Given the description of an element on the screen output the (x, y) to click on. 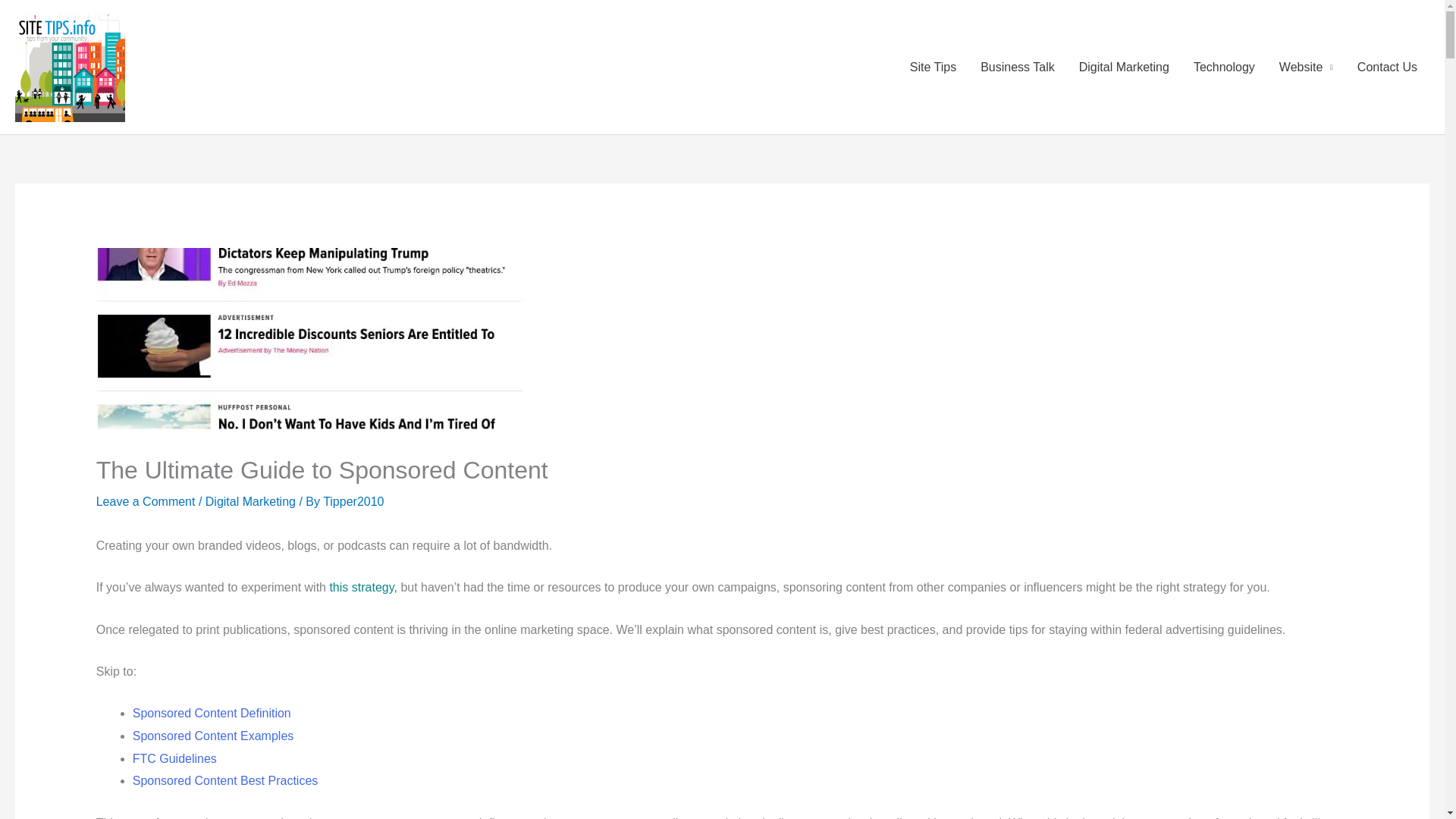
Leave a Comment (145, 501)
this strategy, (363, 586)
Tipper2010 (353, 501)
FTC Guidelines (174, 758)
Digital Marketing (250, 501)
View all posts by Tipper2010 (353, 501)
Sponsored Content Definition (211, 712)
Sponsored Content Examples (213, 735)
Sponsored Content Best Practices (225, 780)
